Given the description of an element on the screen output the (x, y) to click on. 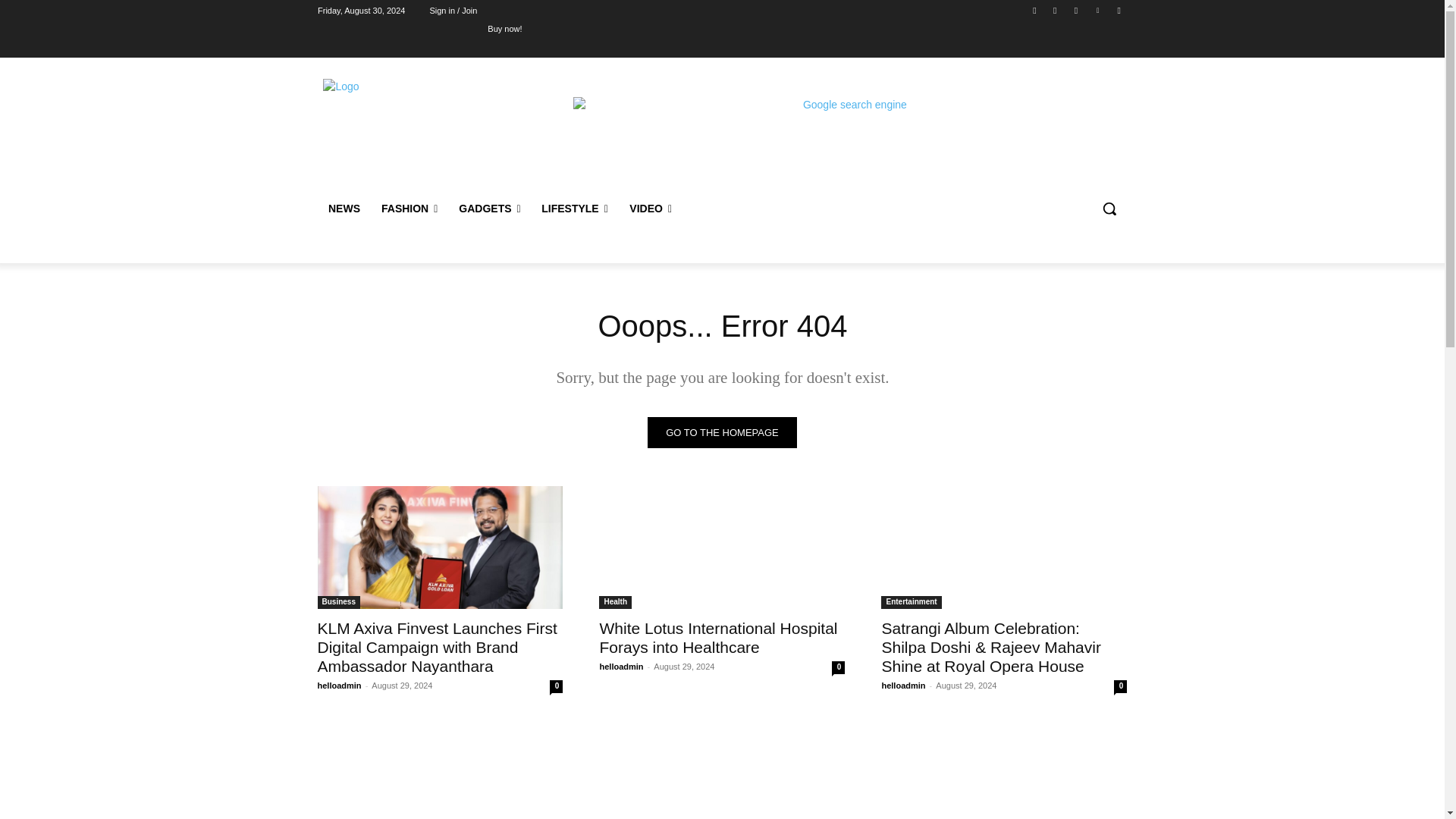
Buy now! (504, 28)
Youtube (1117, 9)
Vimeo (1097, 9)
FASHION (407, 208)
Instagram (1055, 9)
Facebook (1034, 9)
Twitter (1075, 9)
NEWS (343, 208)
